Given the description of an element on the screen output the (x, y) to click on. 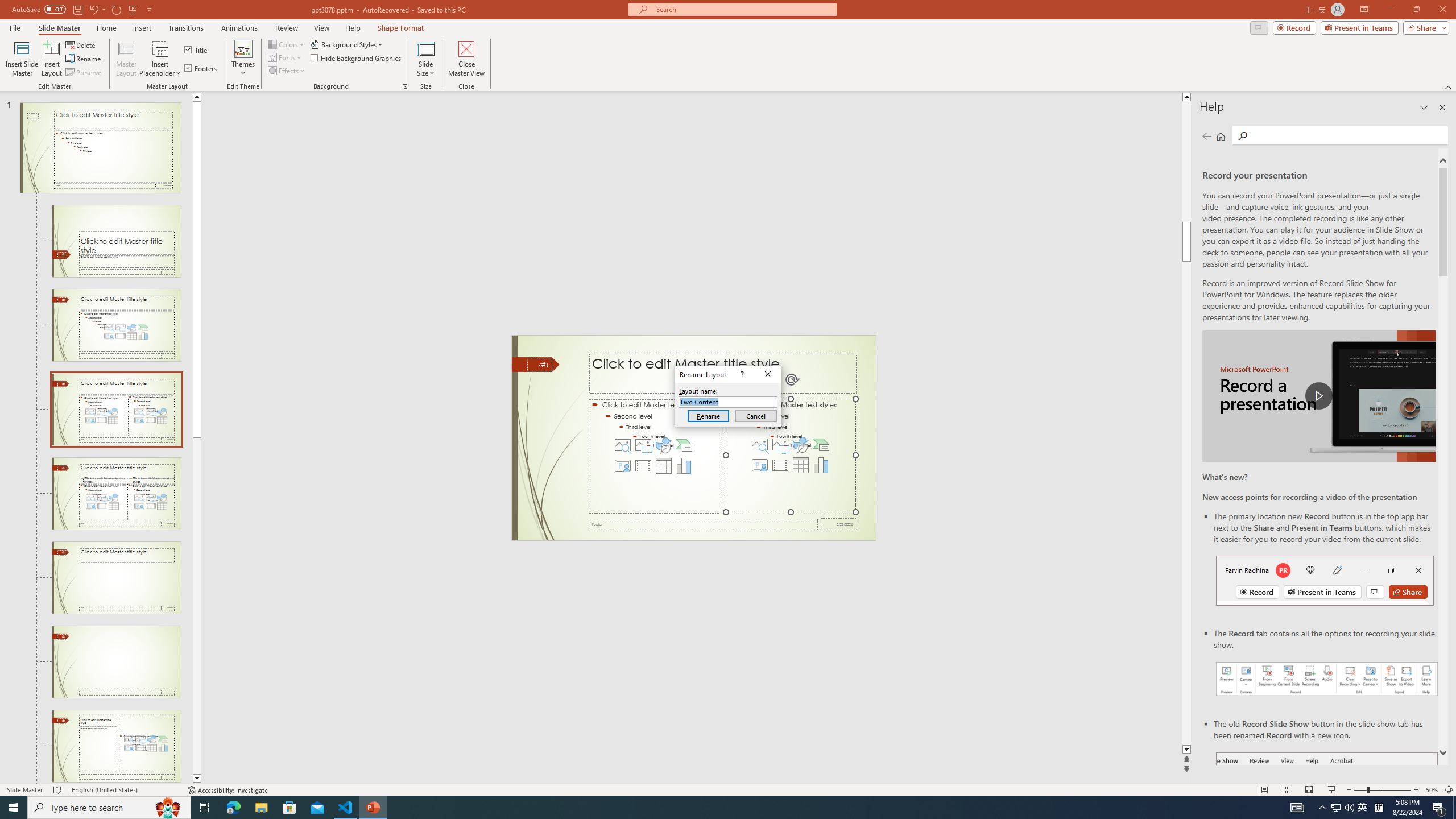
Microsoft search (749, 18)
Add/Edit Citation (39, 92)
Unlink Citations (229, 112)
